Given the description of an element on the screen output the (x, y) to click on. 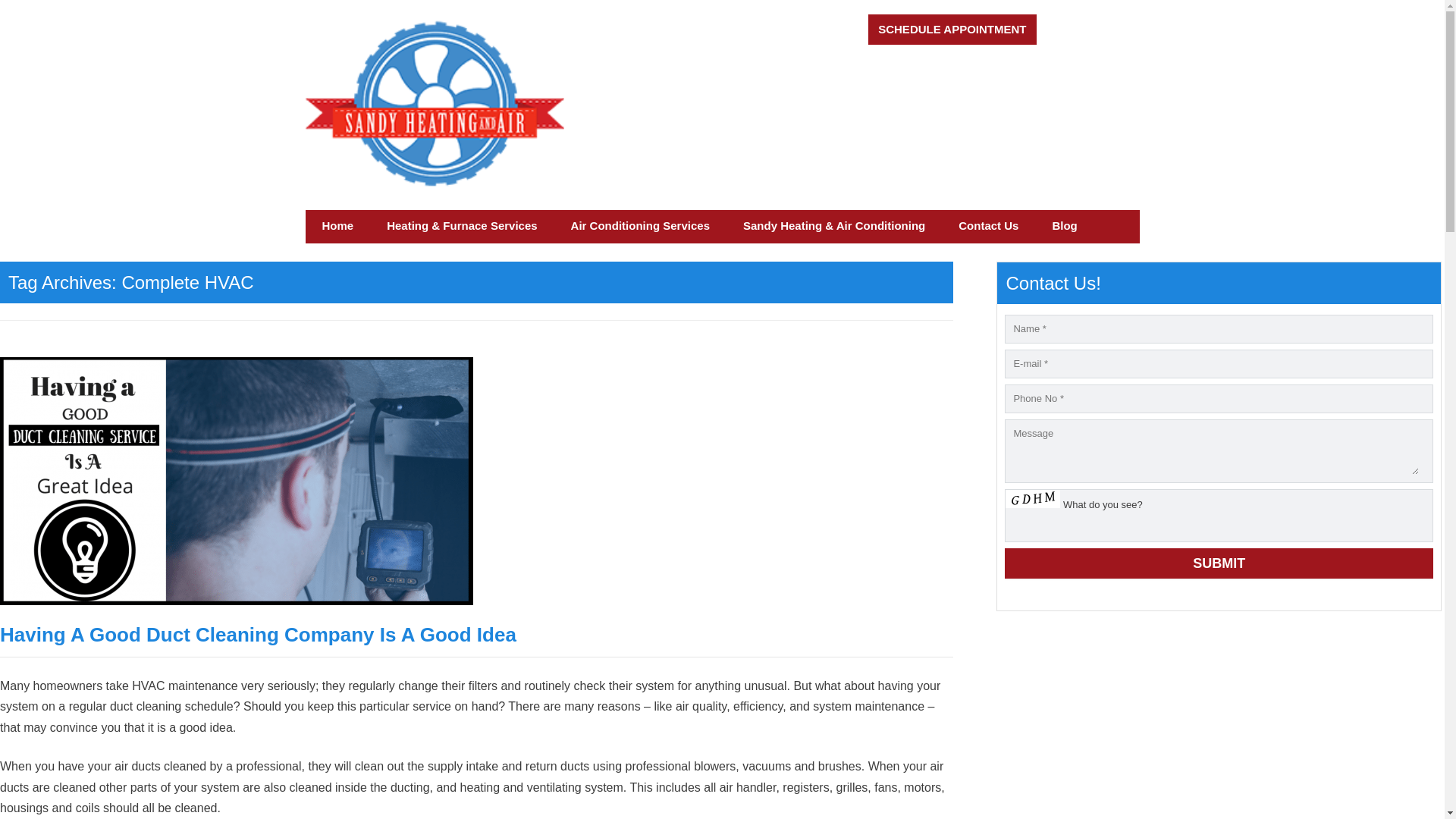
Submit (1218, 562)
Skip to content (362, 225)
SCHEDULE APPOINTMENT (951, 29)
Skip to content (362, 225)
1 (1063, 30)
1 (1126, 30)
Home (336, 225)
Submit (1218, 562)
Having A Good Duct Cleaning Company Is A Good Idea (258, 634)
1 (1094, 30)
